Given the description of an element on the screen output the (x, y) to click on. 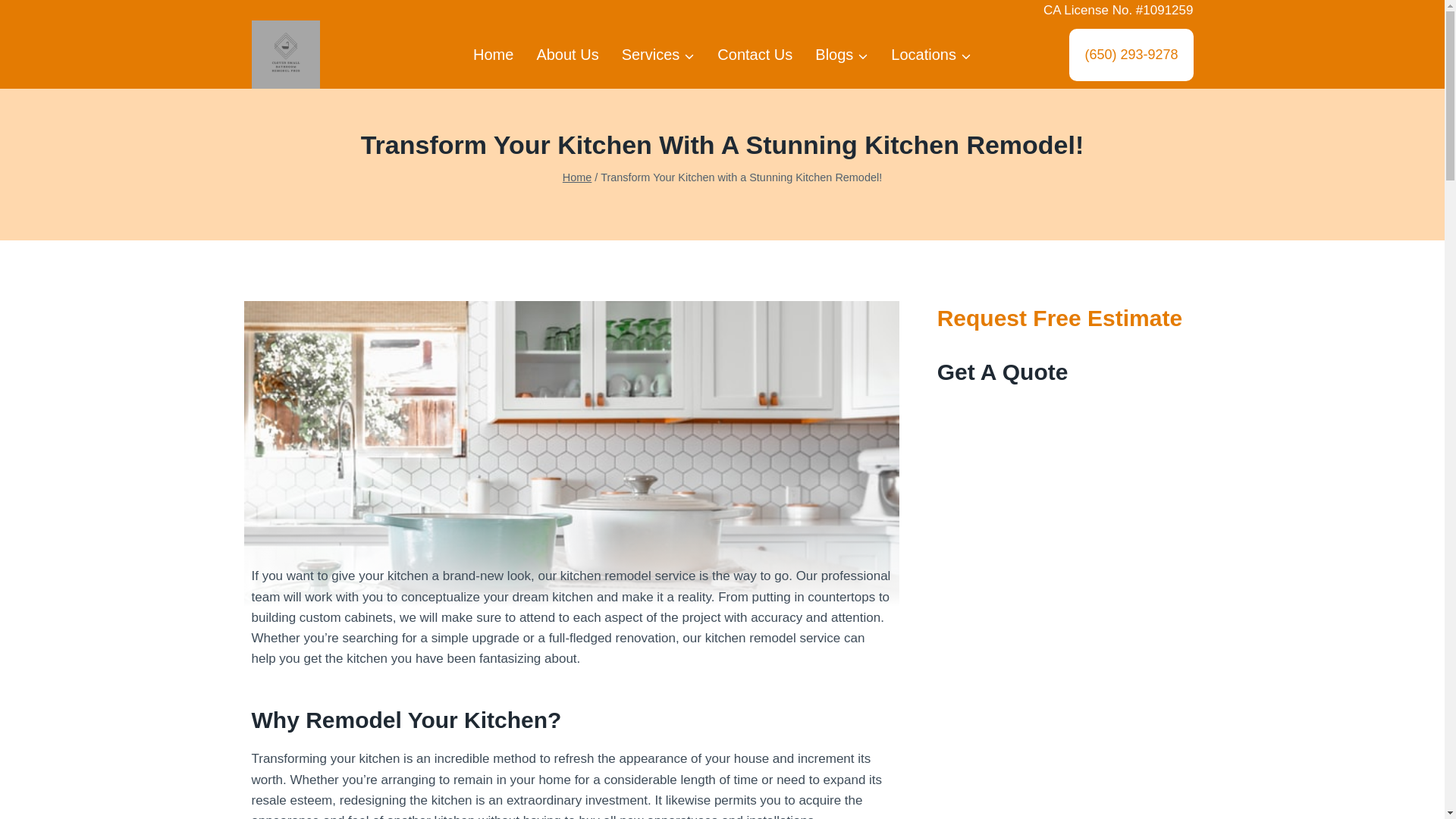
Services (658, 54)
About Us (567, 54)
Locations (930, 54)
Contact Us (754, 54)
Home (492, 54)
Blogs (841, 54)
Home (577, 177)
